Given the description of an element on the screen output the (x, y) to click on. 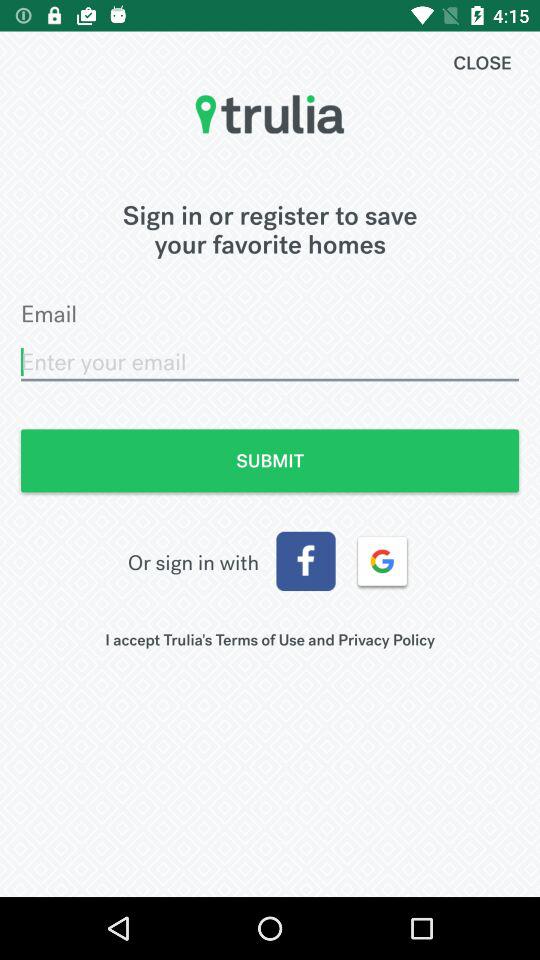
choose the item above sign in or (482, 62)
